Given the description of an element on the screen output the (x, y) to click on. 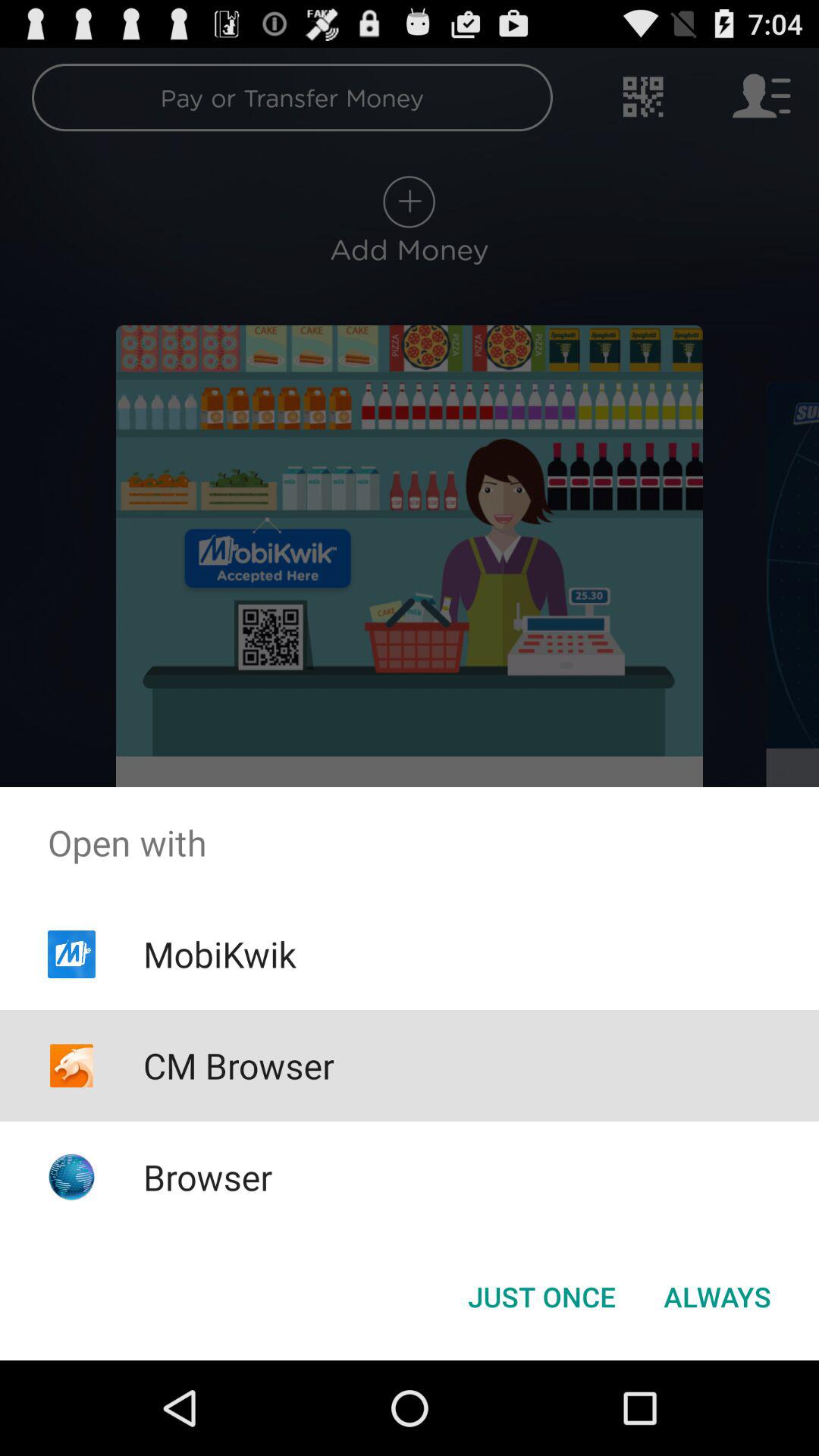
swipe until mobikwik (219, 953)
